Given the description of an element on the screen output the (x, y) to click on. 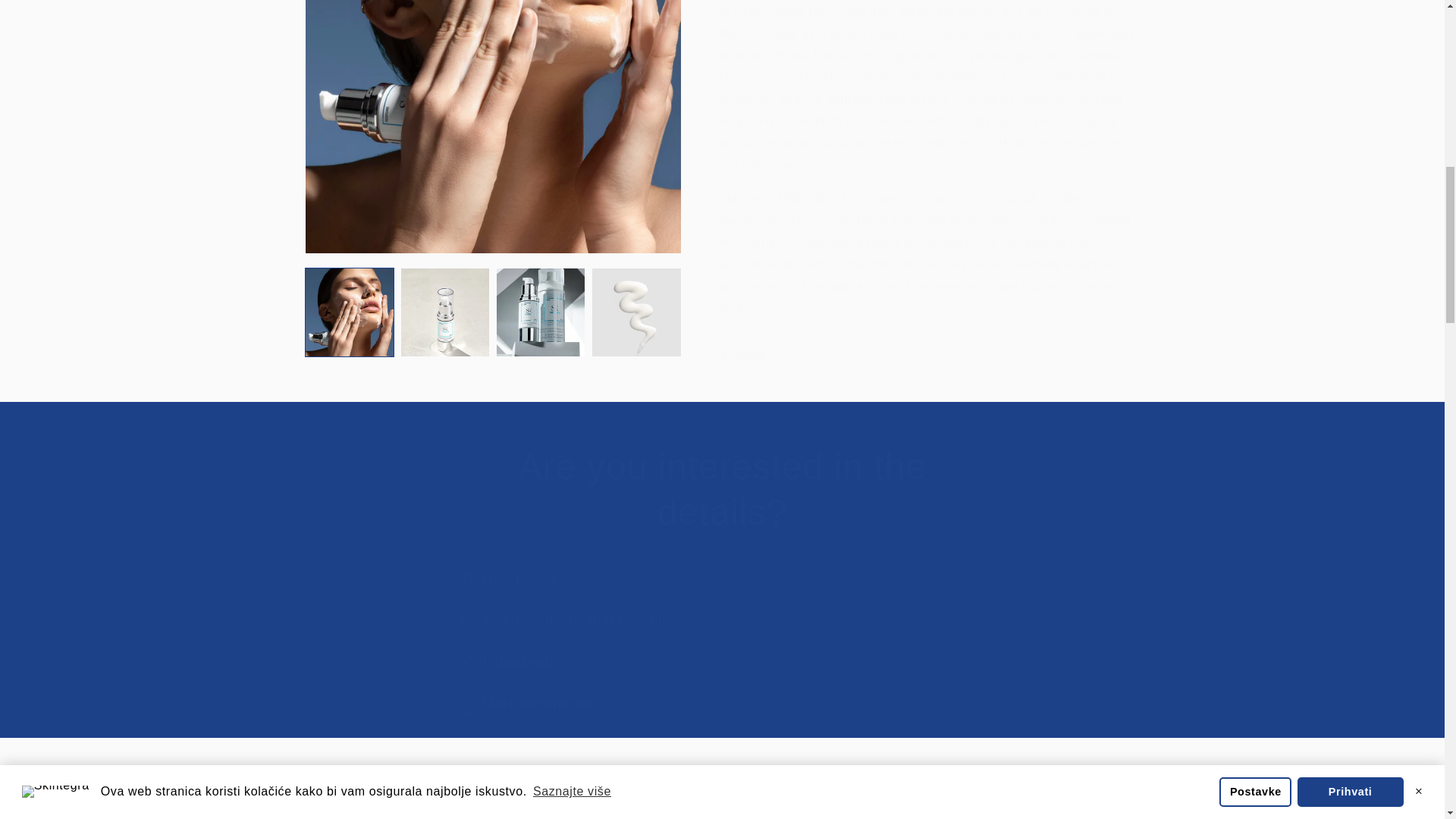
Are you interested in the details? (721, 489)
